Given the description of an element on the screen output the (x, y) to click on. 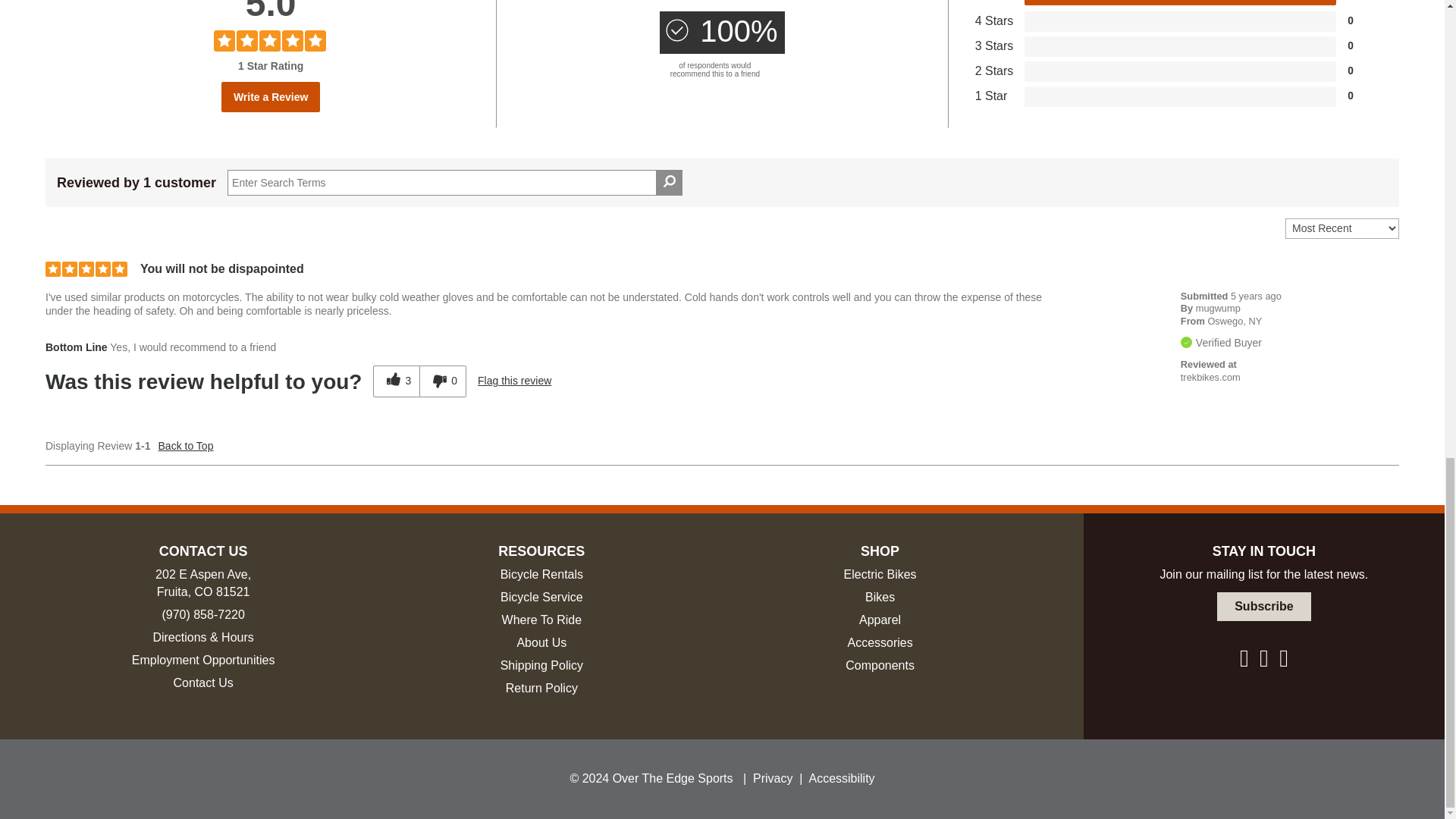
Verified Buyer (1186, 342)
Trek US (1210, 377)
